Given the description of an element on the screen output the (x, y) to click on. 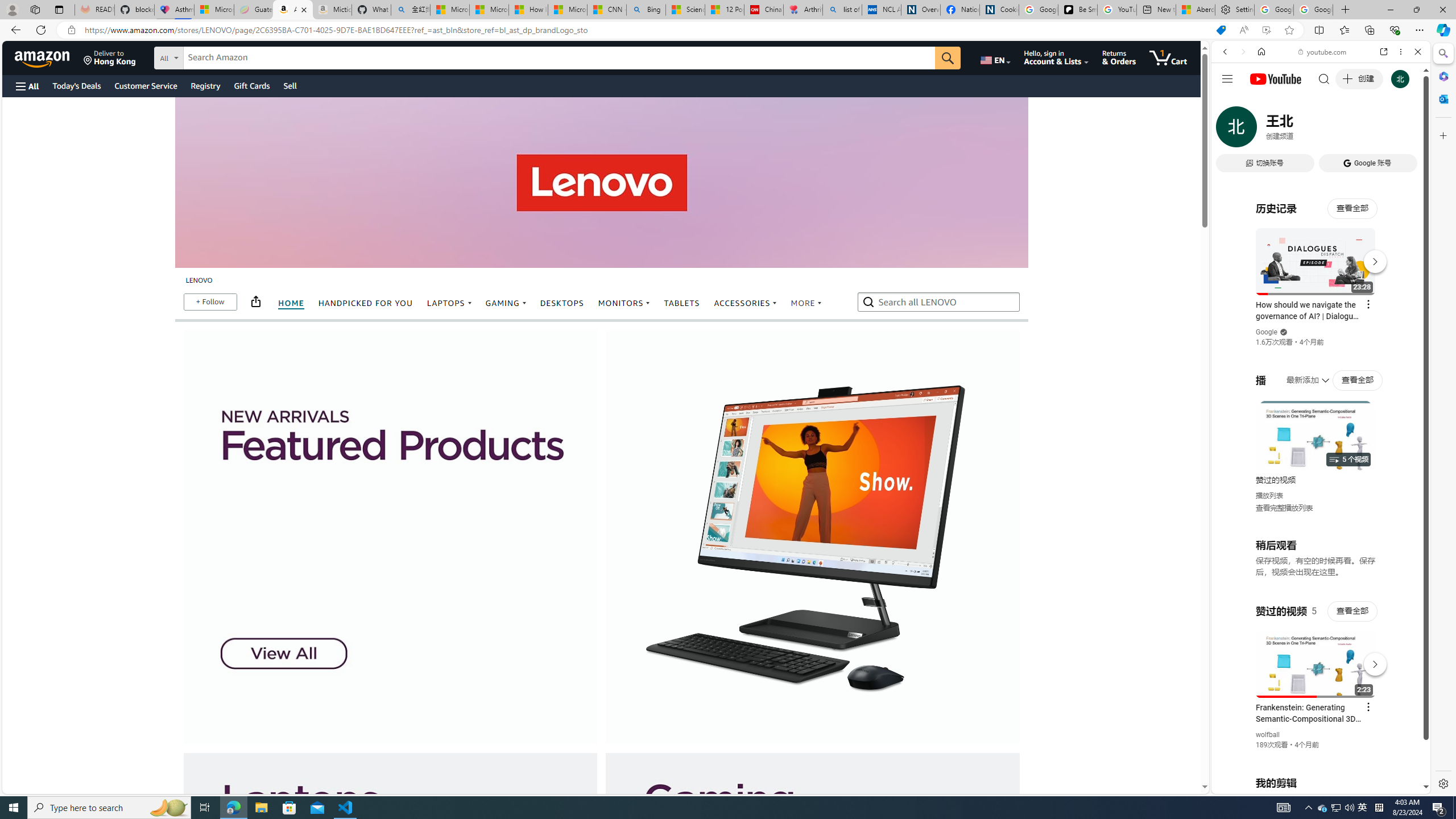
Search in (210, 56)
